Given the description of an element on the screen output the (x, y) to click on. 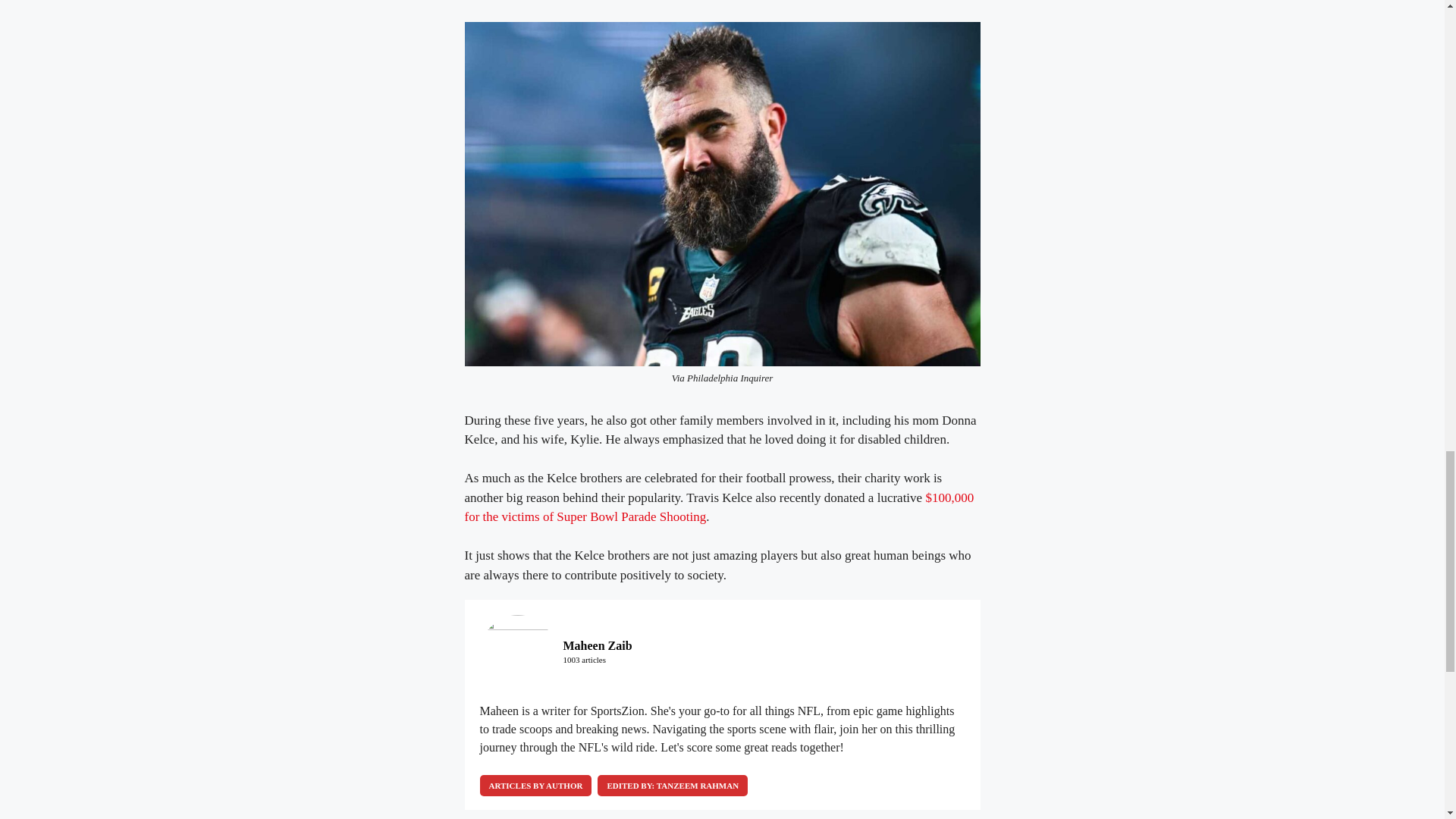
EDITED BY: TANZEEM RAHMAN (672, 785)
ARTICLES BY AUTHOR (535, 785)
